Given the description of an element on the screen output the (x, y) to click on. 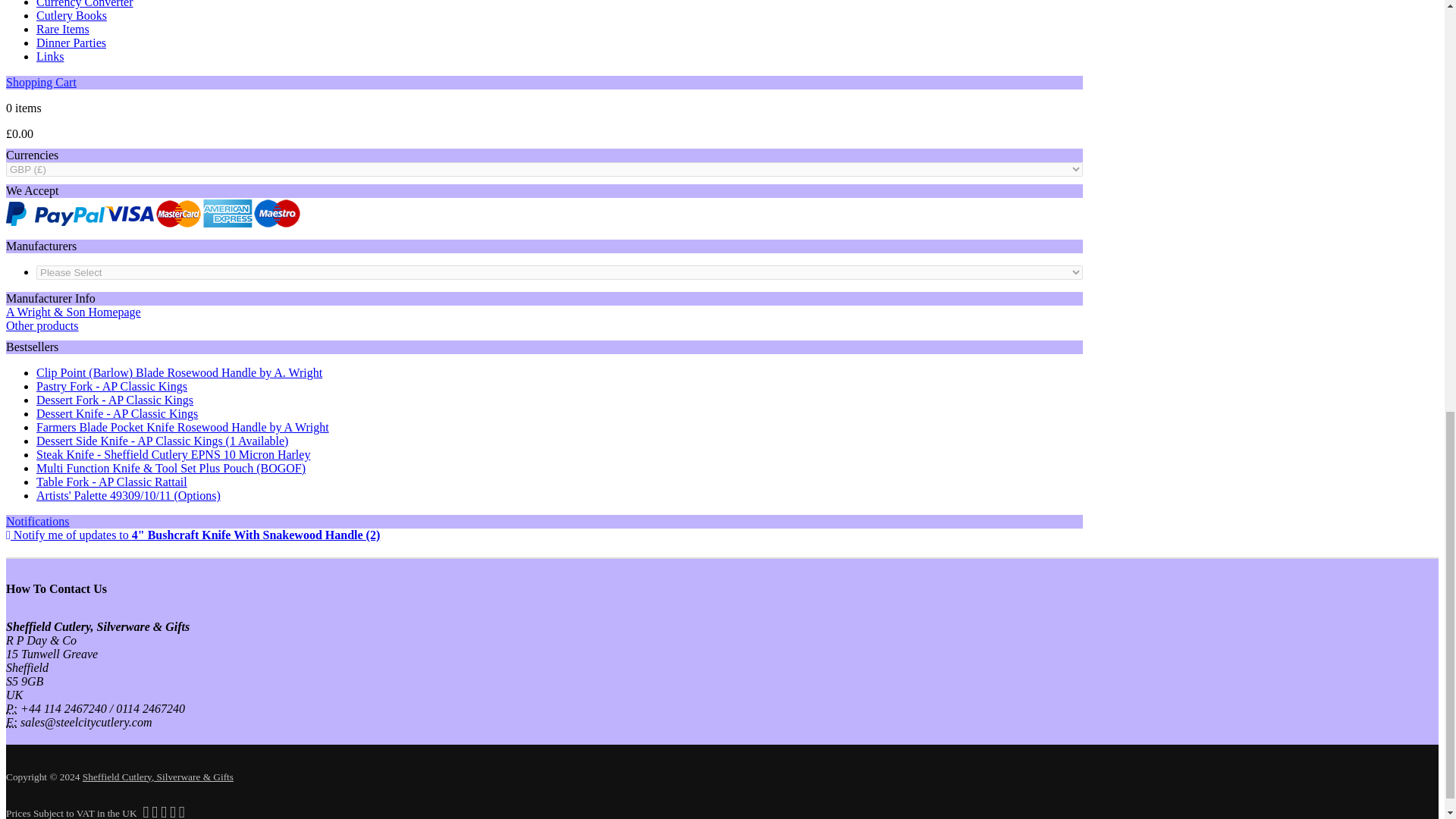
Phone (11, 707)
Email (11, 721)
